Given the description of an element on the screen output the (x, y) to click on. 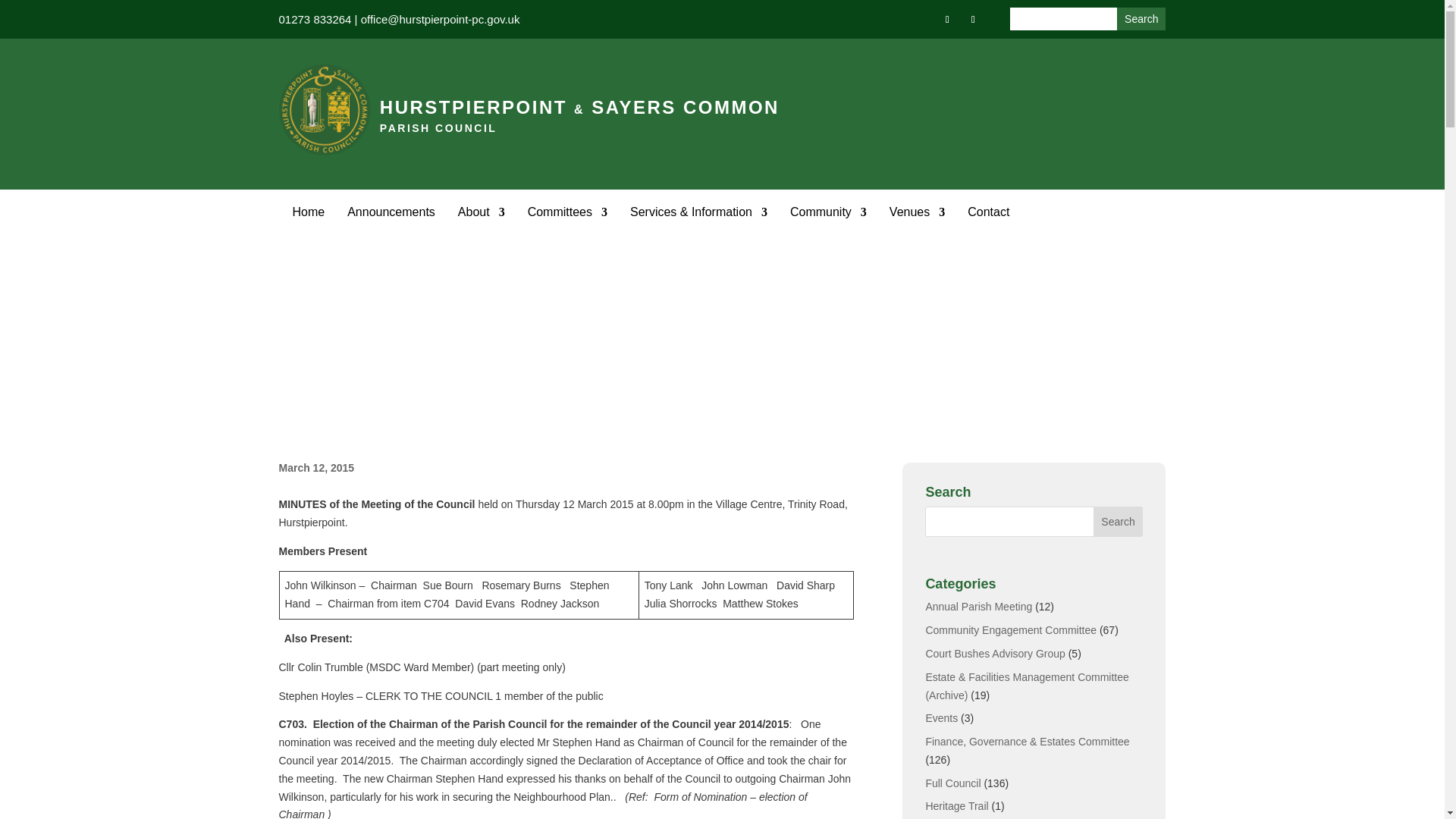
Follow on Facebook (946, 19)
Search (1141, 18)
Announcements (391, 212)
Committees (567, 212)
Search (1117, 521)
Home (308, 212)
01273 833264 (315, 19)
Follow on X (972, 19)
Search (1141, 18)
About (481, 212)
Search (1141, 18)
